Given the description of an element on the screen output the (x, y) to click on. 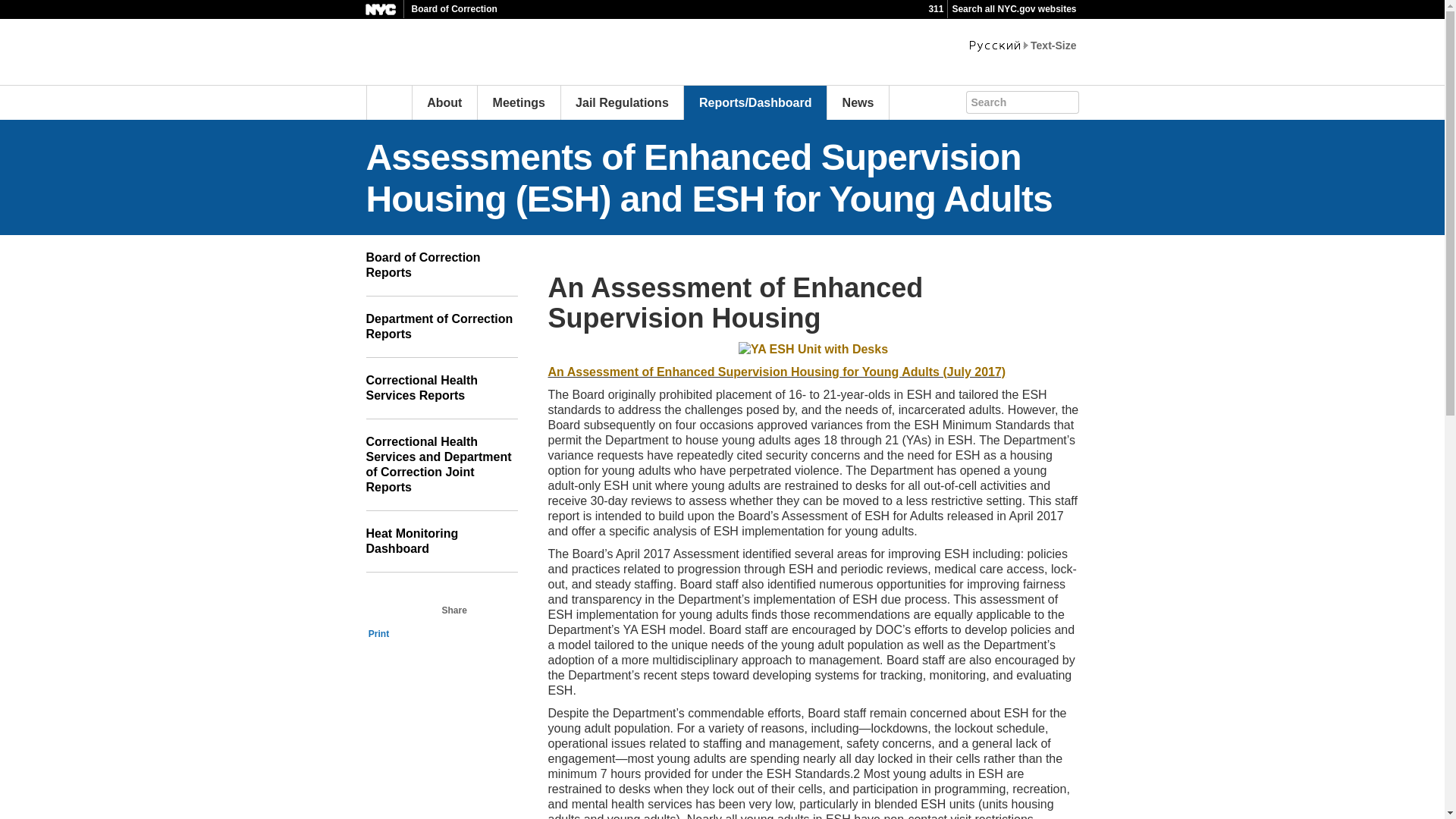
Jail Regulations (621, 102)
Board of Correction Reports (440, 265)
search (1081, 100)
Meetings (518, 102)
Search all NYC.gov websites (1013, 9)
311 (935, 9)
Correctional Health Services Reports (440, 388)
search (1081, 100)
News (859, 102)
Department of Correction Reports (440, 326)
Home (388, 102)
Text-Size (1052, 45)
Heat Monitoring Dashboard (440, 541)
About (443, 102)
